Given the description of an element on the screen output the (x, y) to click on. 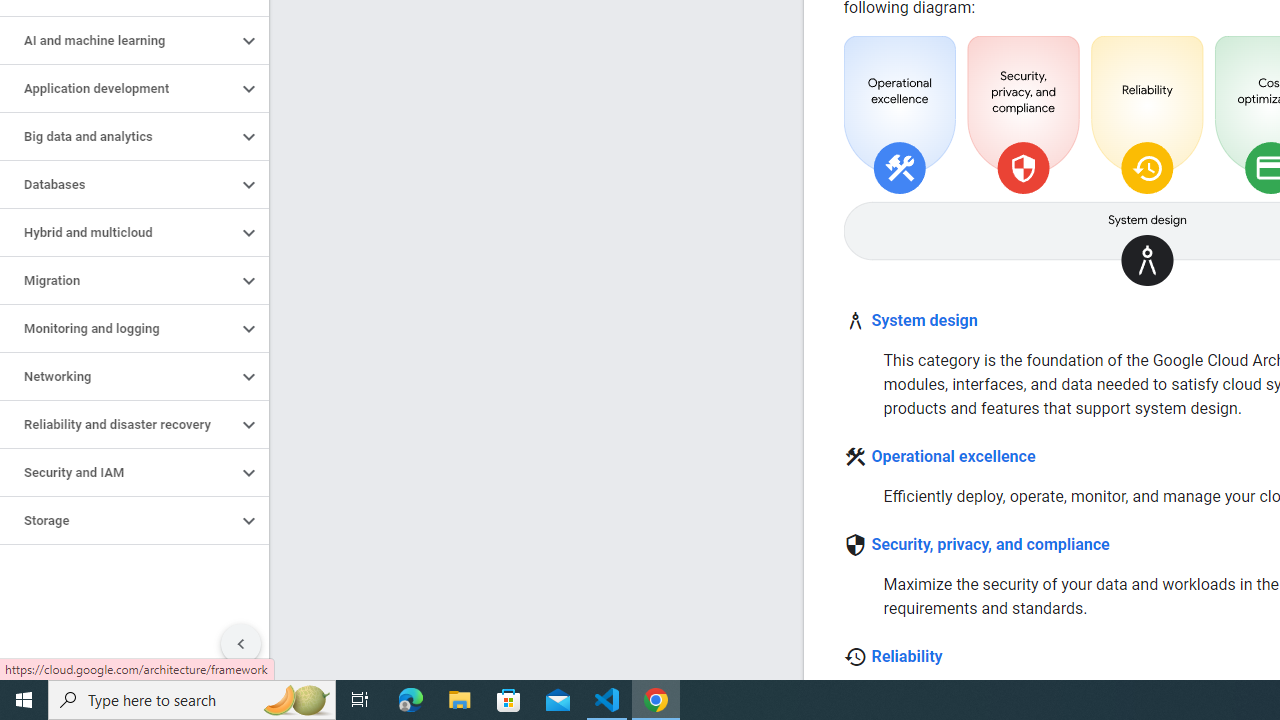
Hybrid and multicloud (118, 232)
Security, privacy, and compliance (989, 544)
Storage (118, 520)
Migration (118, 281)
Big data and analytics (118, 137)
AI and machine learning (118, 40)
Reliability (906, 656)
Security and IAM (118, 472)
Hide side navigation (241, 643)
Networking (118, 376)
Reliability and disaster recovery (118, 425)
Monitoring and logging (118, 328)
Application development (118, 88)
Operational excellence (952, 457)
